Given the description of an element on the screen output the (x, y) to click on. 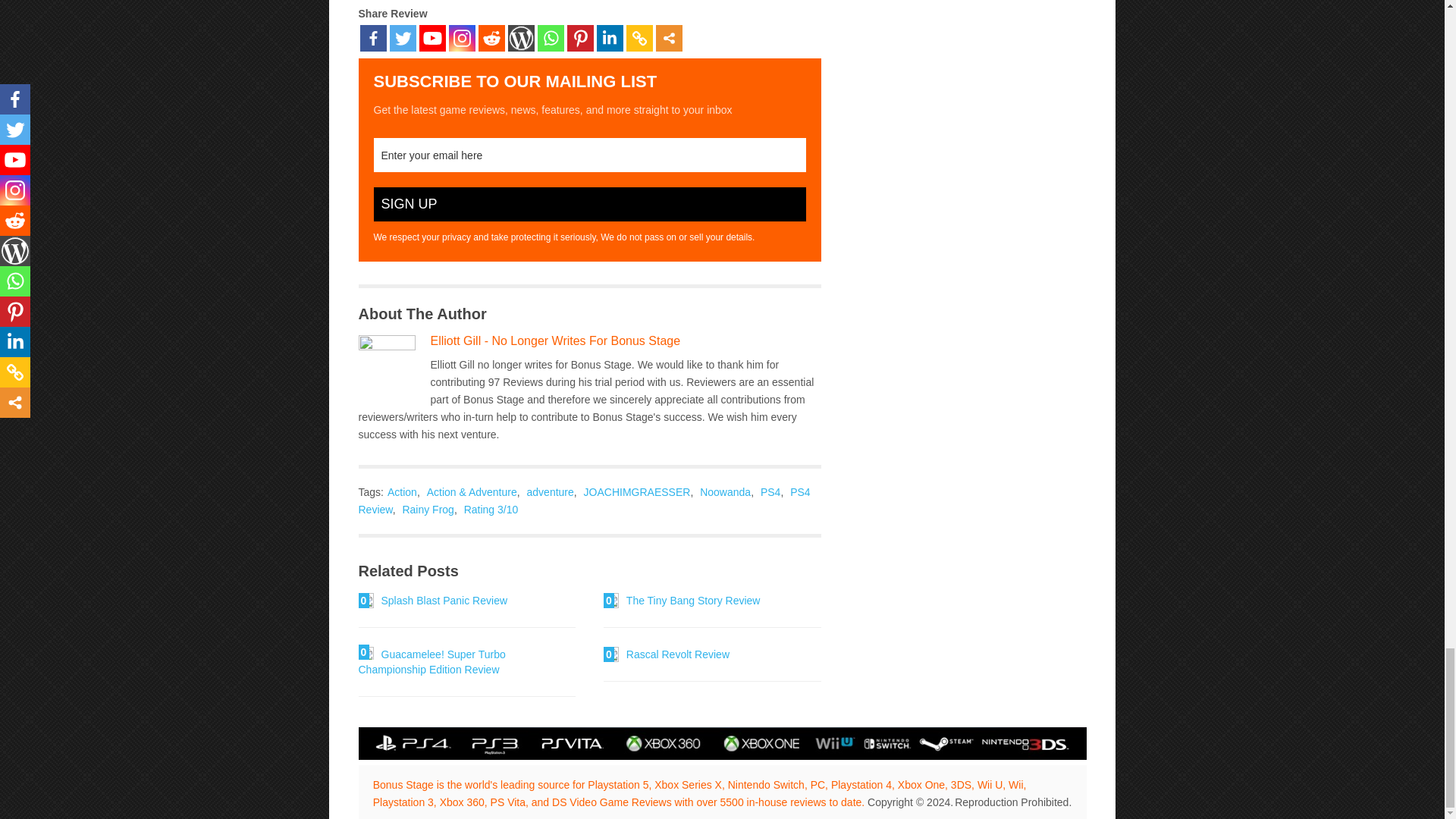
Sign Up (588, 204)
